Given the description of an element on the screen output the (x, y) to click on. 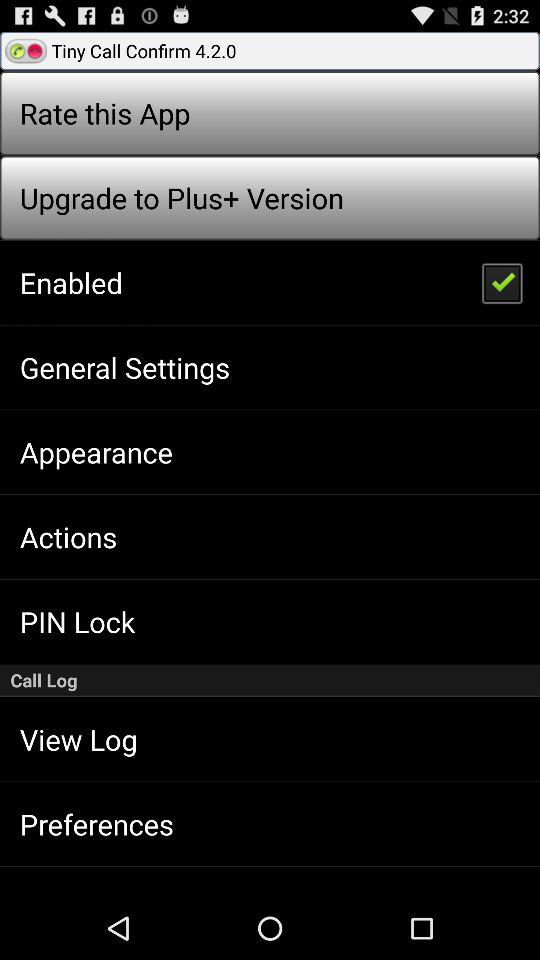
open preferences (96, 823)
